Given the description of an element on the screen output the (x, y) to click on. 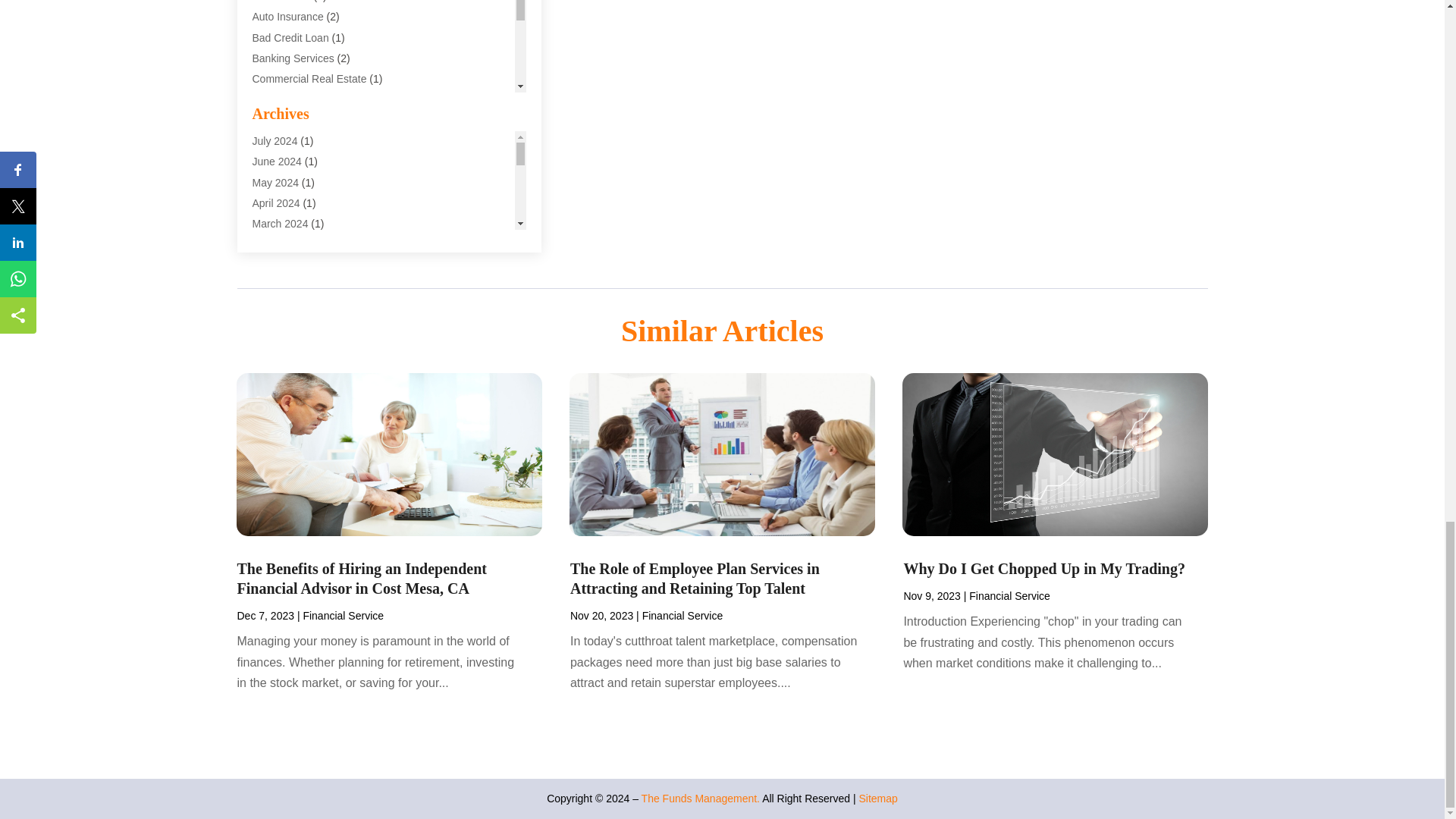
Currency Exchange Service (317, 119)
Commercial Real Estate (308, 78)
Finance Books (286, 161)
Finance Sector Trade Unions (319, 182)
Bad Credit Loan (290, 37)
Finance (270, 140)
Auto Insurance (287, 16)
Accountants (280, 1)
Banking Services (292, 58)
Counselor (275, 99)
